Given the description of an element on the screen output the (x, y) to click on. 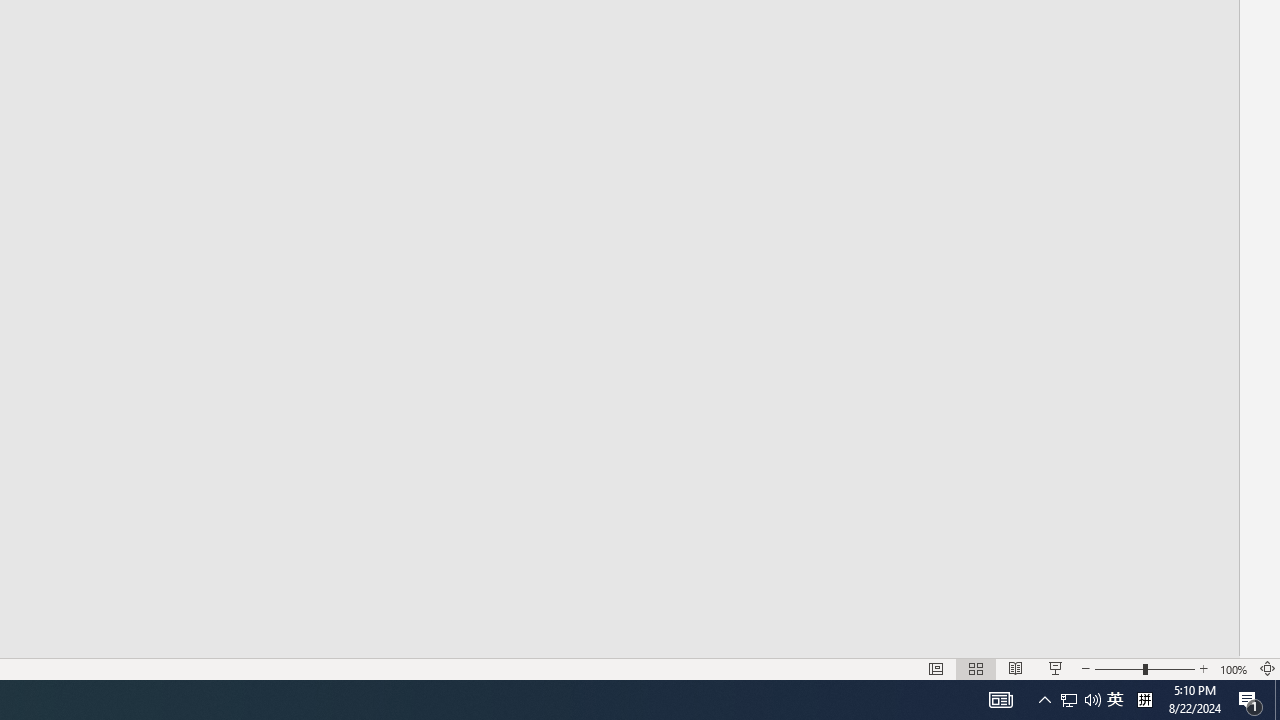
Zoom 100% (1234, 668)
